Given the description of an element on the screen output the (x, y) to click on. 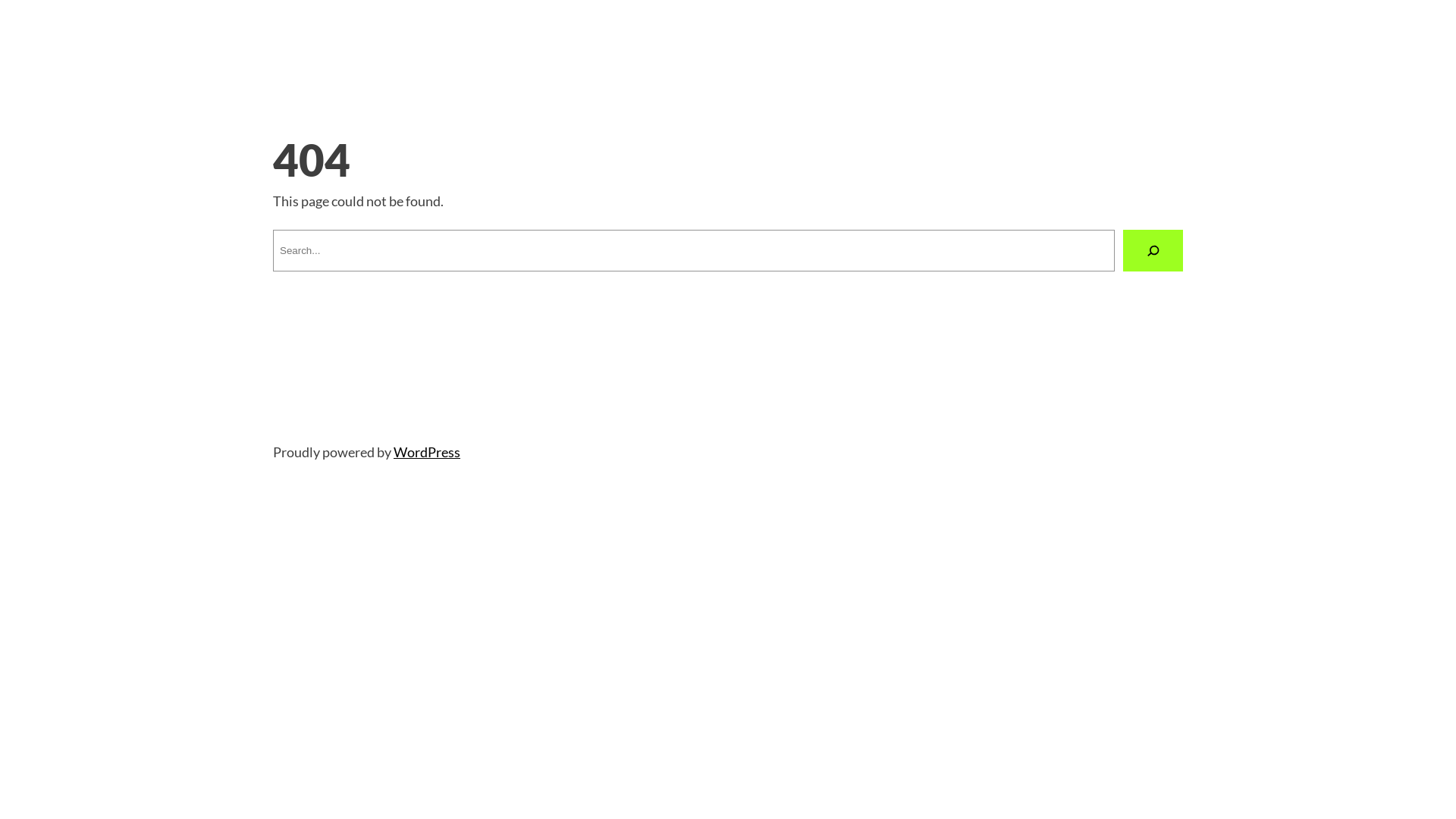
WordPress Element type: text (426, 451)
